Given the description of an element on the screen output the (x, y) to click on. 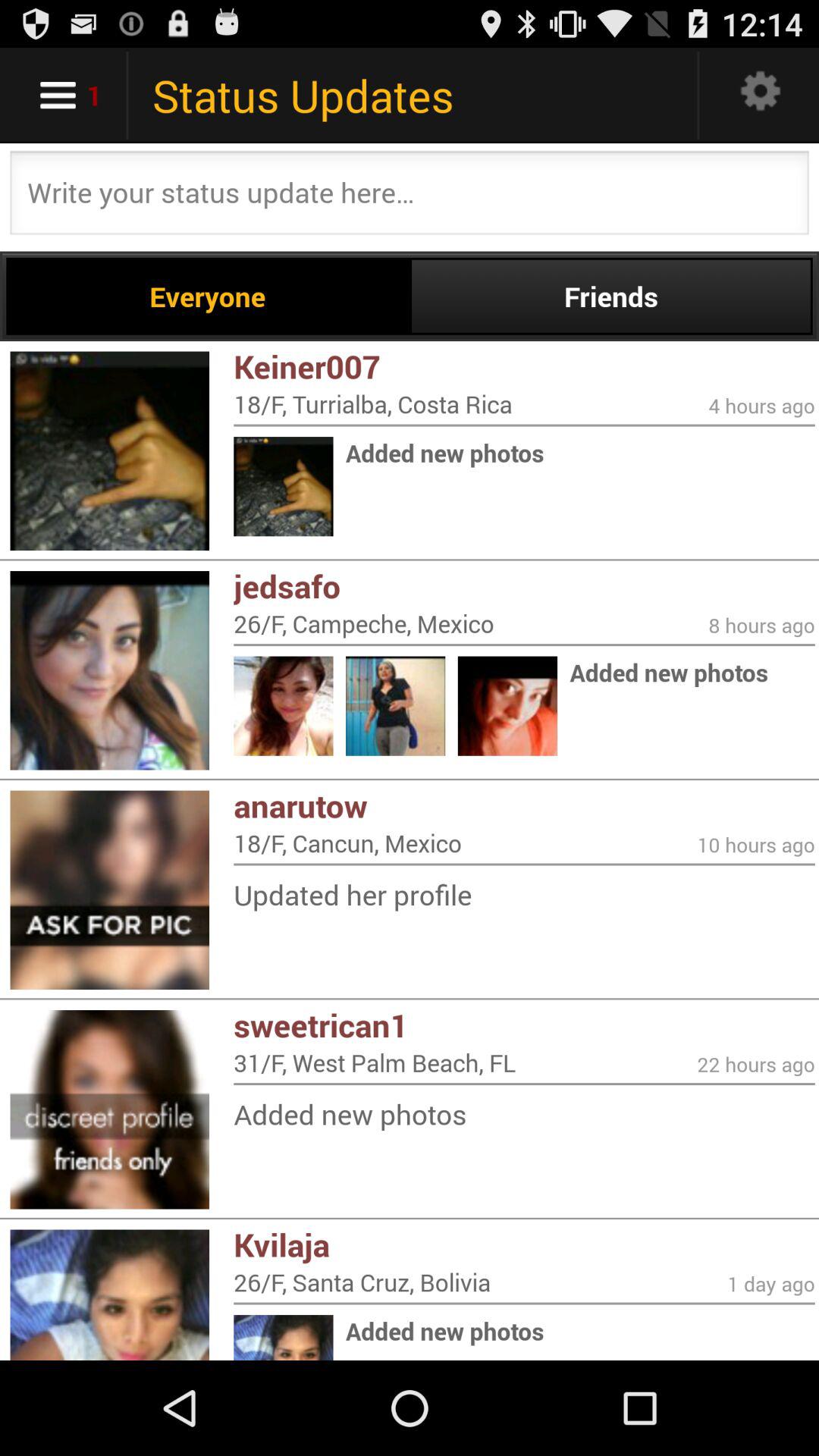
press app above 18 f turrialba item (524, 366)
